Given the description of an element on the screen output the (x, y) to click on. 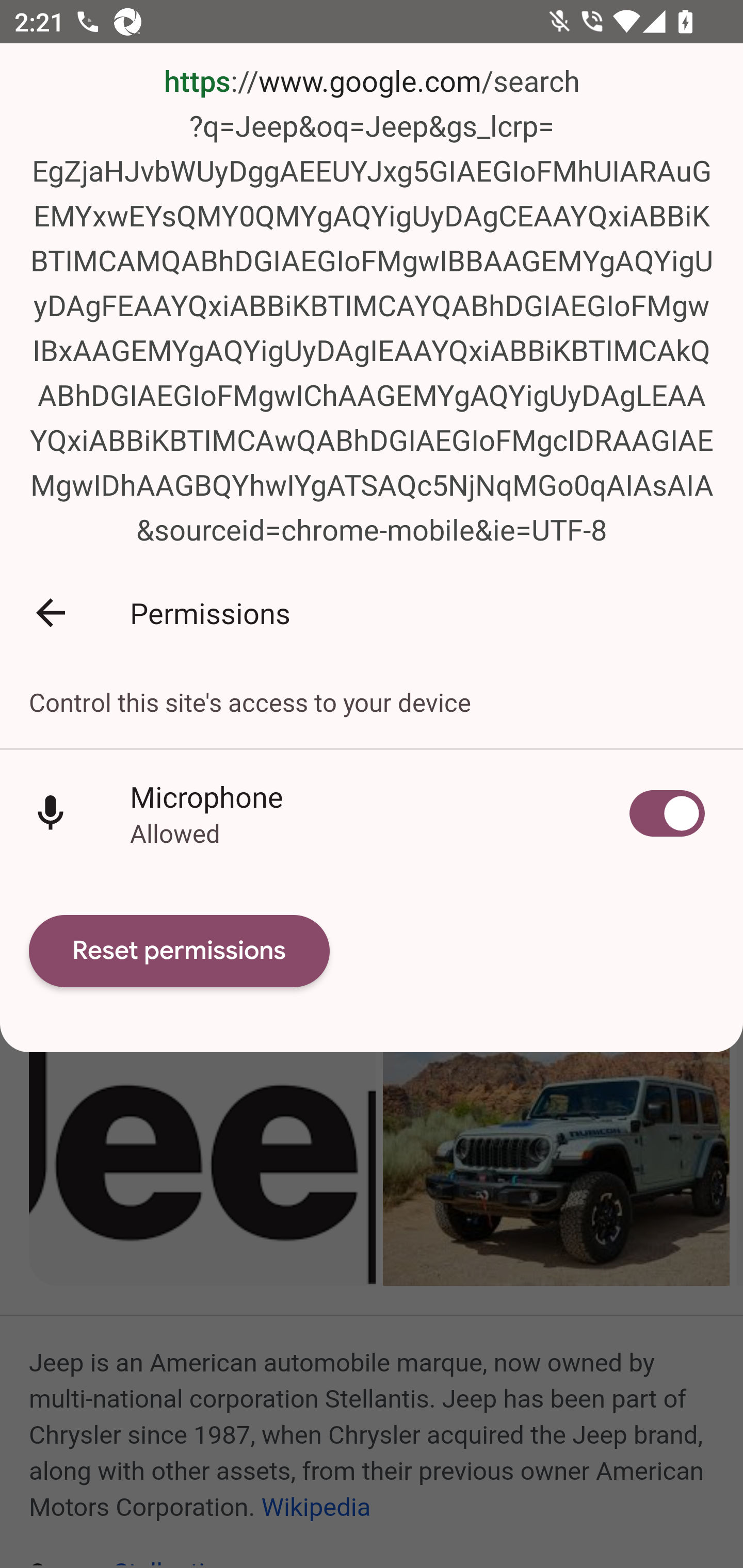
Back (50, 612)
Microphone Allowed (371, 813)
Reset permissions (178, 950)
